Given the description of an element on the screen output the (x, y) to click on. 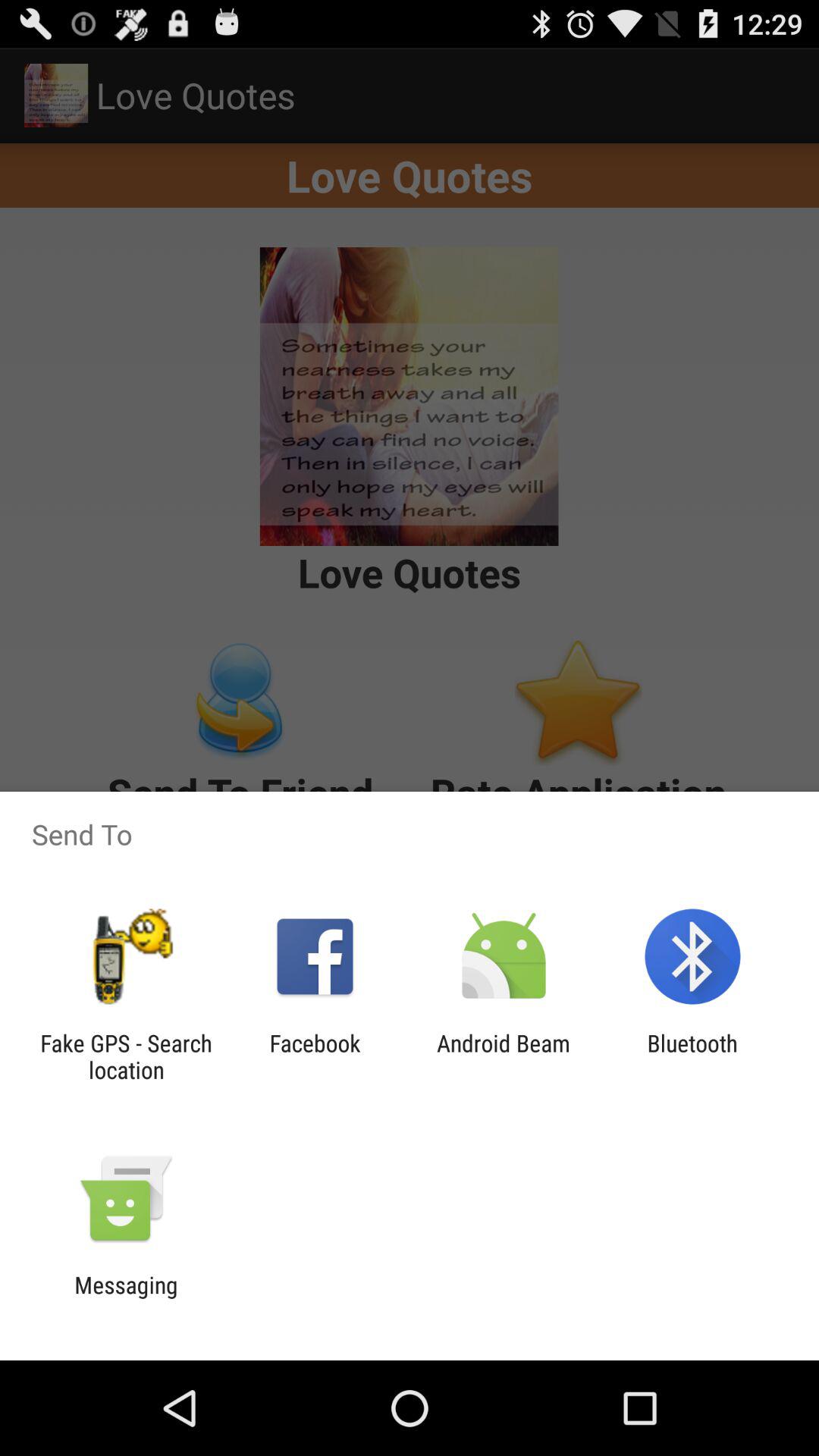
open the app to the right of the fake gps search (314, 1056)
